Given the description of an element on the screen output the (x, y) to click on. 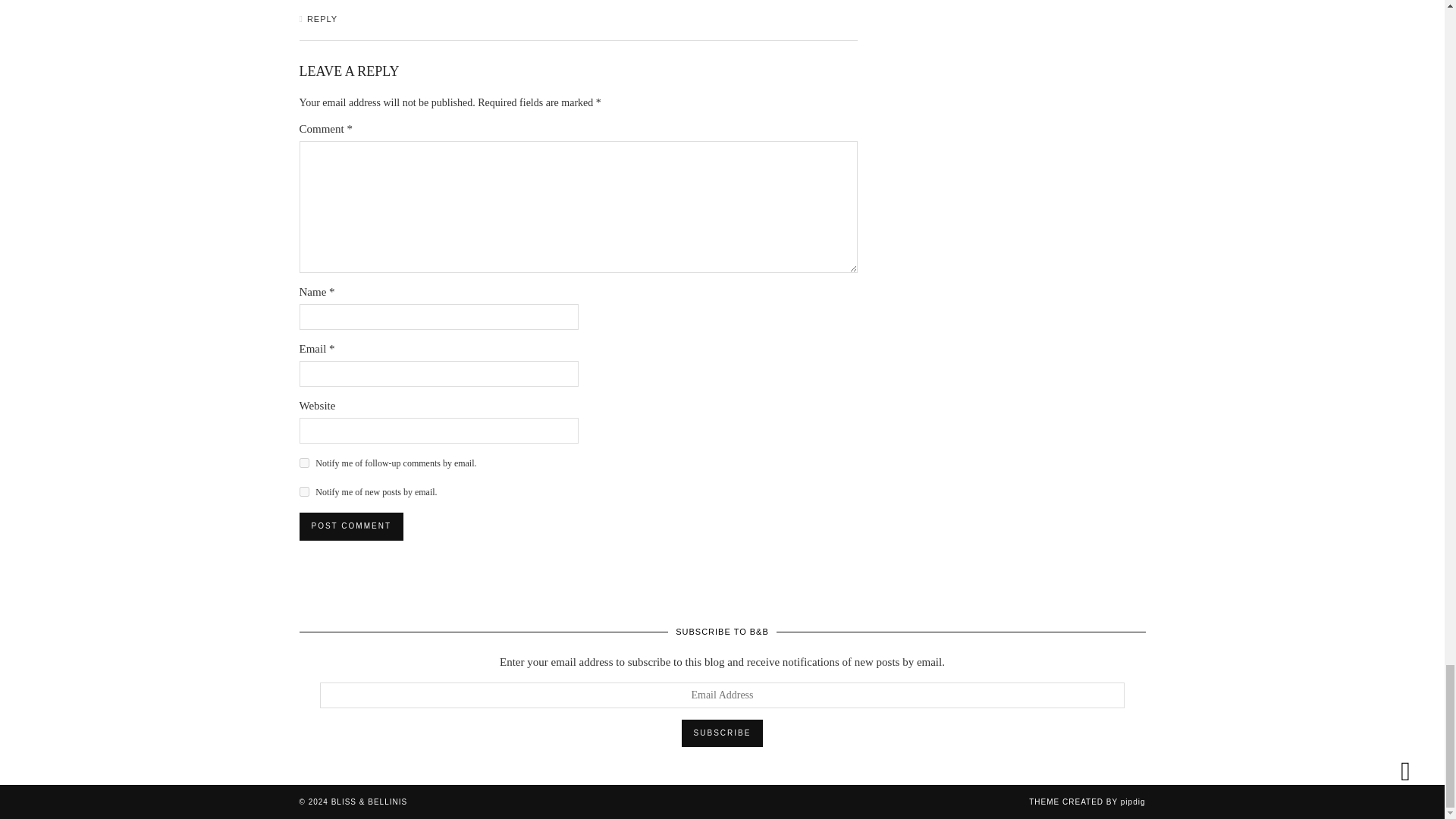
Post Comment (350, 525)
subscribe (303, 491)
REPLY (322, 18)
subscribe (303, 462)
Post Comment (350, 525)
